Given the description of an element on the screen output the (x, y) to click on. 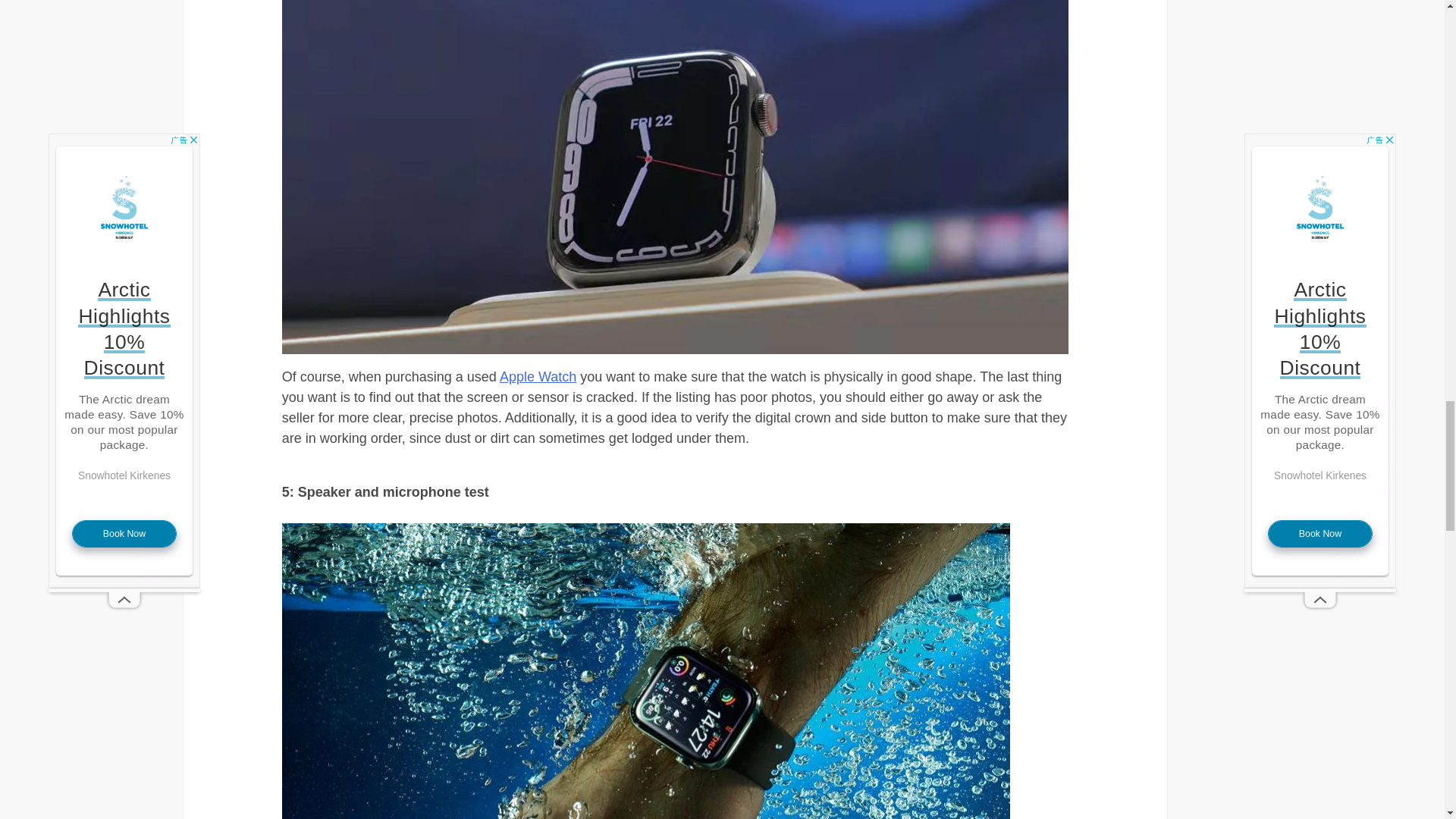
Apple Watch (537, 376)
